Given the description of an element on the screen output the (x, y) to click on. 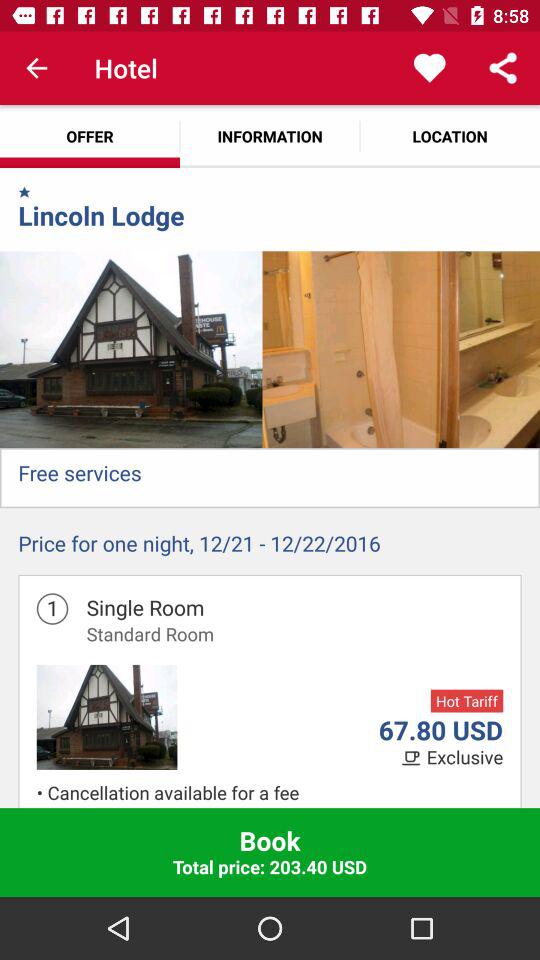
open the item above the free services (131, 349)
